Given the description of an element on the screen output the (x, y) to click on. 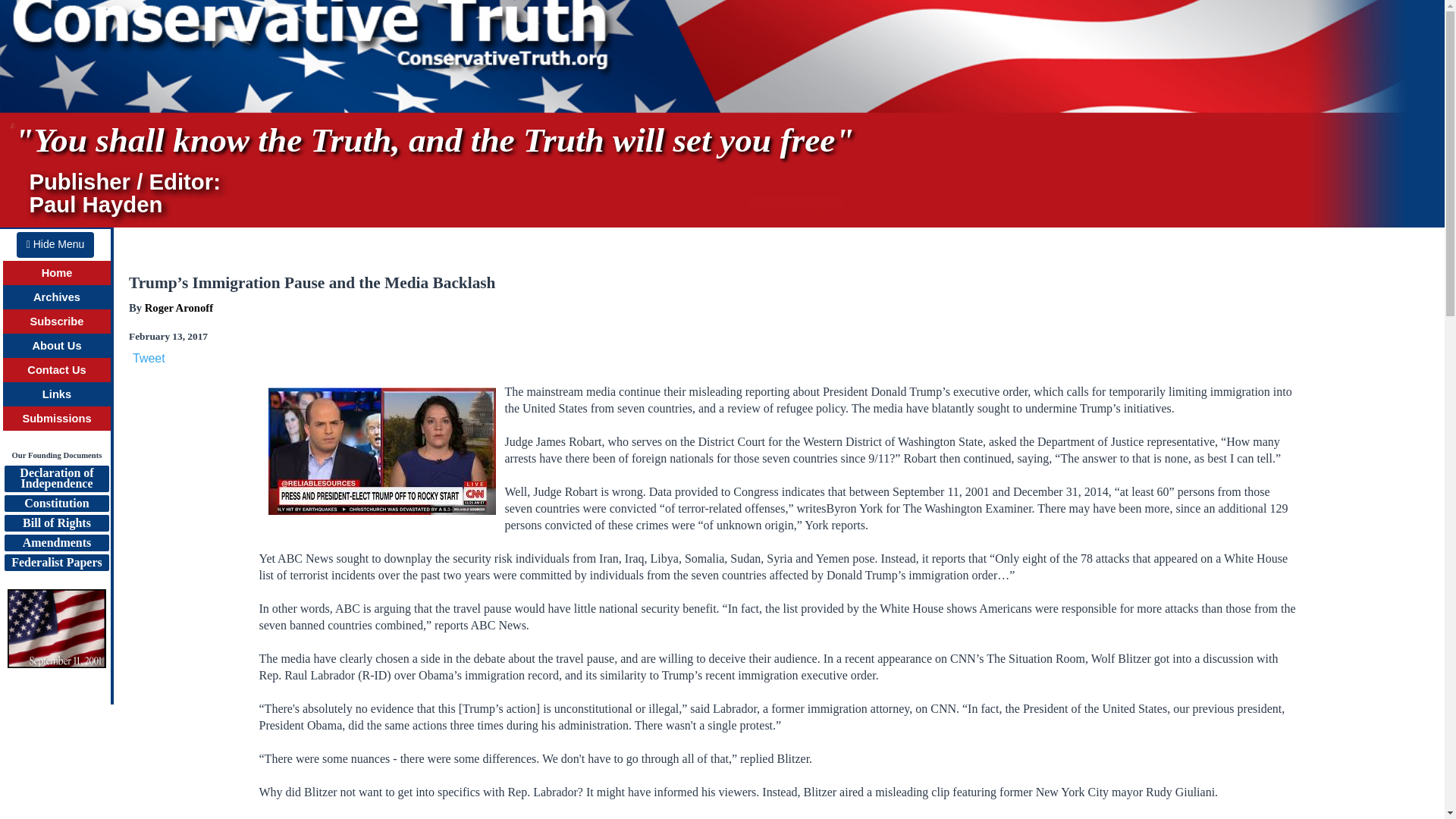
Links (56, 394)
Hide Menu (56, 479)
Federalist Papers (55, 244)
Contact Us (56, 562)
Constitution (56, 369)
Amendments (56, 503)
Tweet (56, 542)
Roger Aronoff (148, 358)
Home (178, 307)
Archives (57, 272)
Subscribe (56, 297)
Submissions (57, 321)
Bill of Rights (55, 418)
About Us (56, 523)
